Given the description of an element on the screen output the (x, y) to click on. 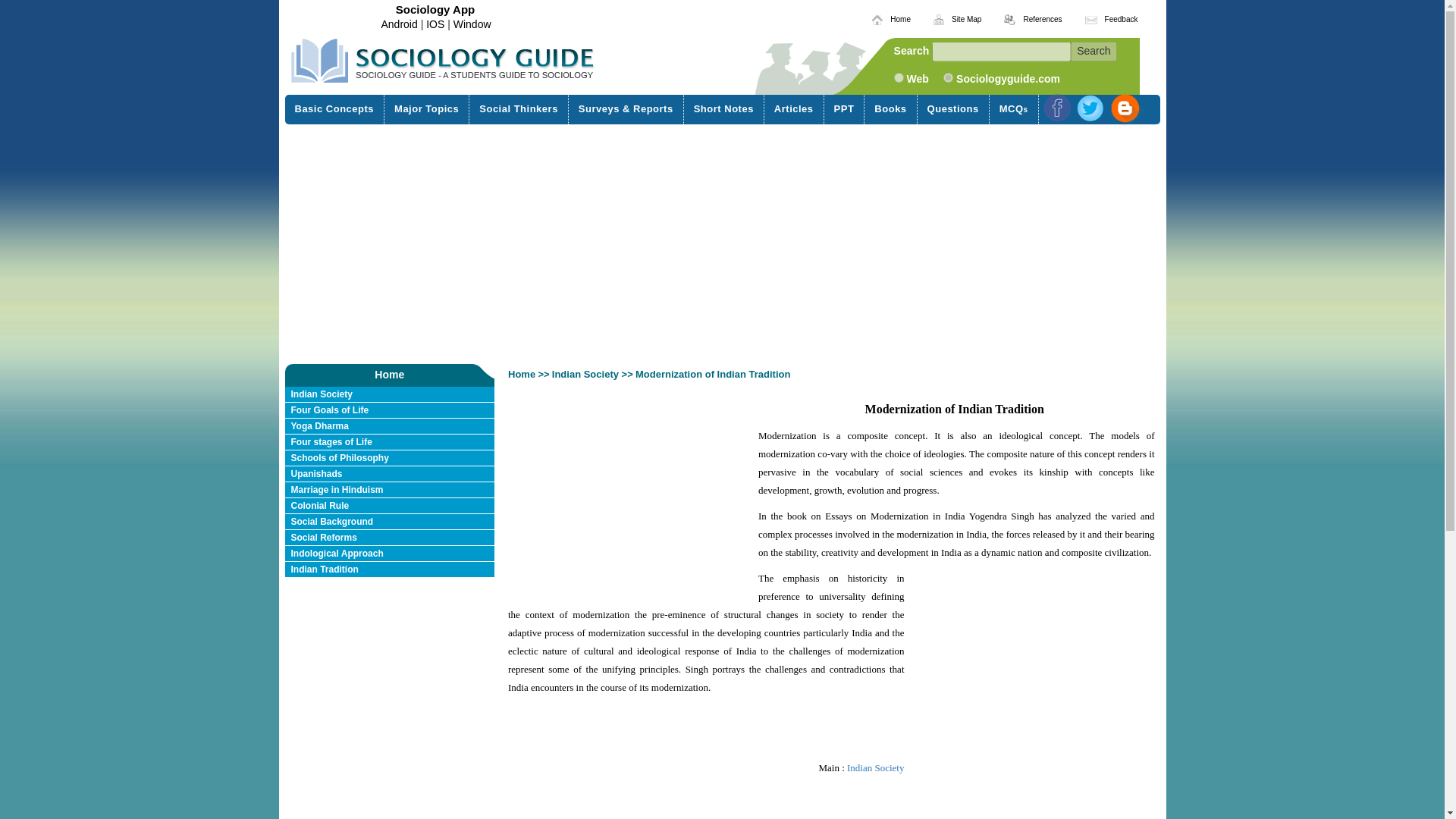
www.sociologyguide.com (948, 77)
Search (1093, 51)
